Given the description of an element on the screen output the (x, y) to click on. 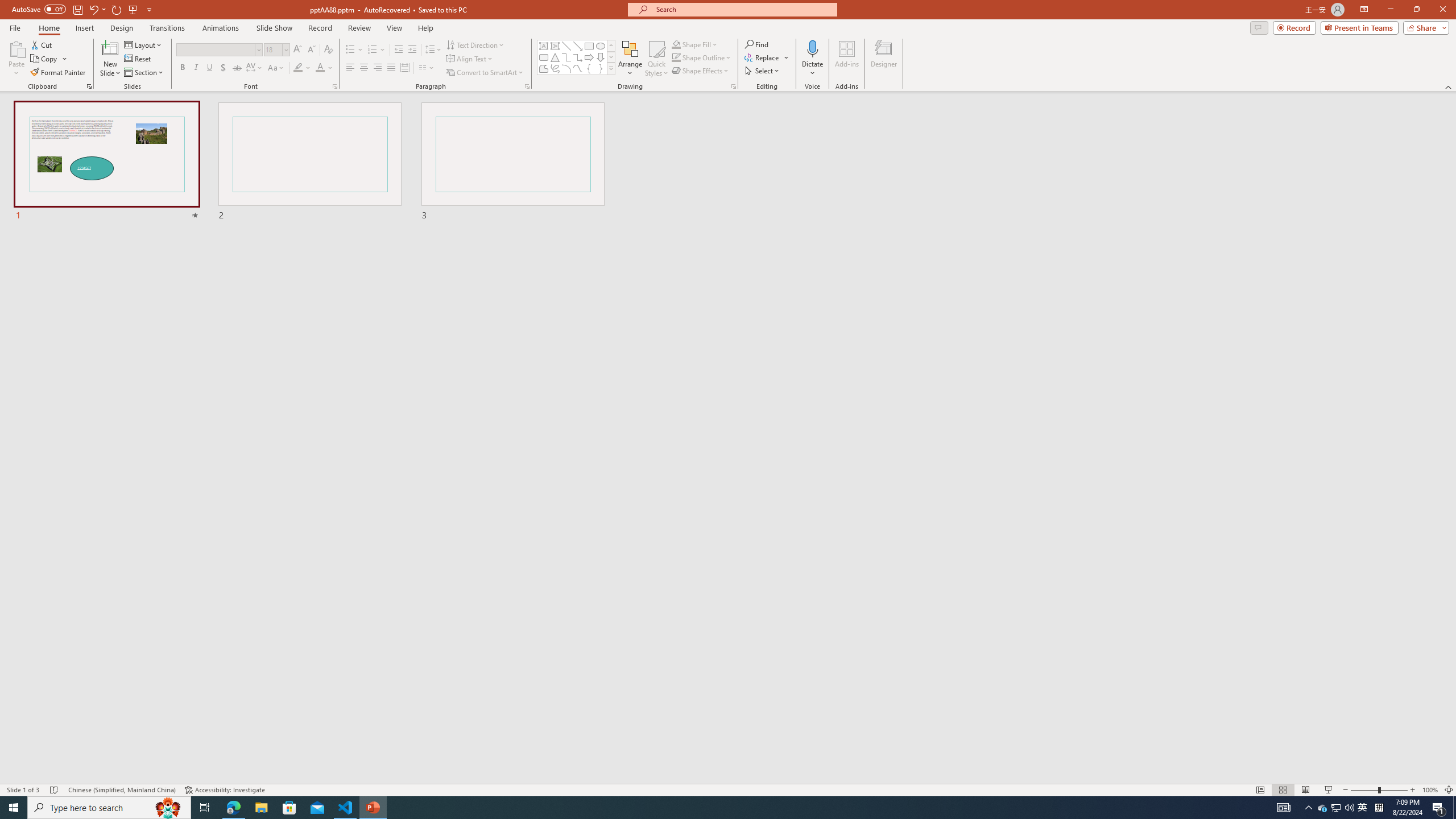
Font Size (273, 49)
